Given the description of an element on the screen output the (x, y) to click on. 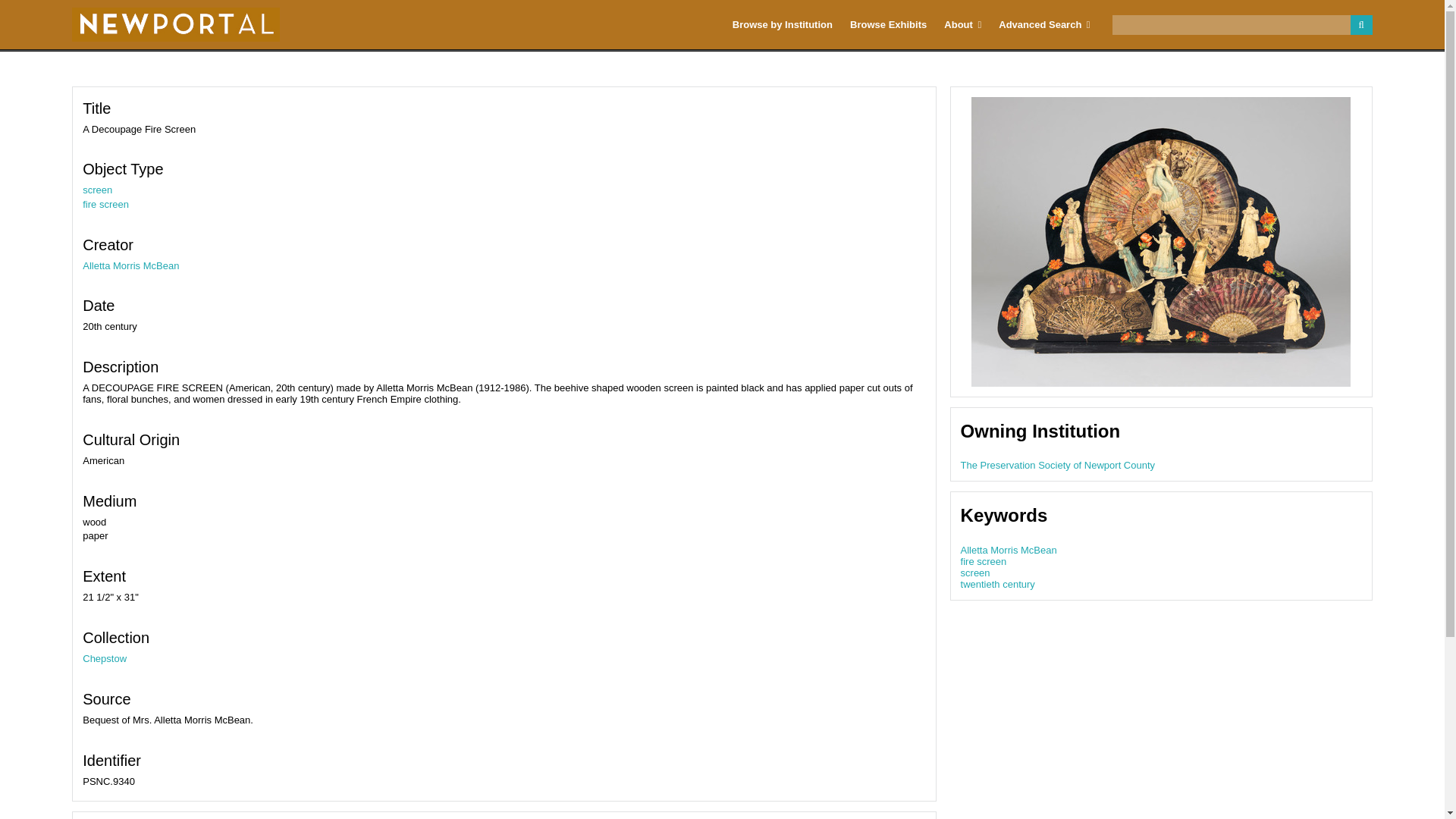
About (962, 24)
twentieth century (997, 583)
screen (97, 189)
Advanced Search (1044, 24)
Alletta Morris McBean (1008, 550)
SEARCH (1360, 25)
Browse Exhibits (888, 24)
Chepstow (104, 658)
Browse by Institution (782, 24)
The Preservation Society of Newport County (1058, 464)
screen (975, 572)
Search (1242, 25)
fire screen (105, 204)
Alletta Morris McBean (130, 265)
fire screen (983, 561)
